Given the description of an element on the screen output the (x, y) to click on. 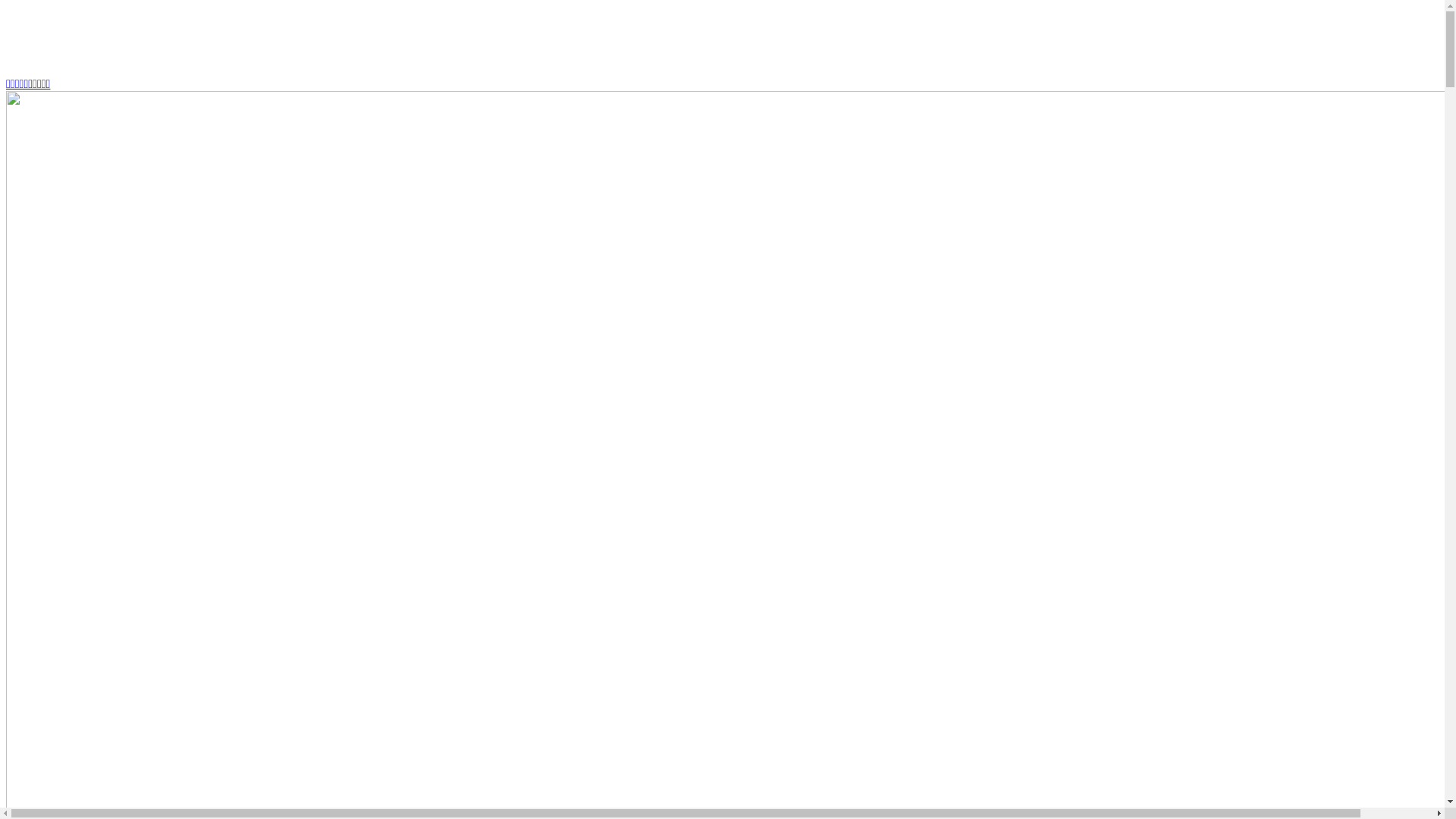
Advertisement Element type: hover (373, 40)
